Given the description of an element on the screen output the (x, y) to click on. 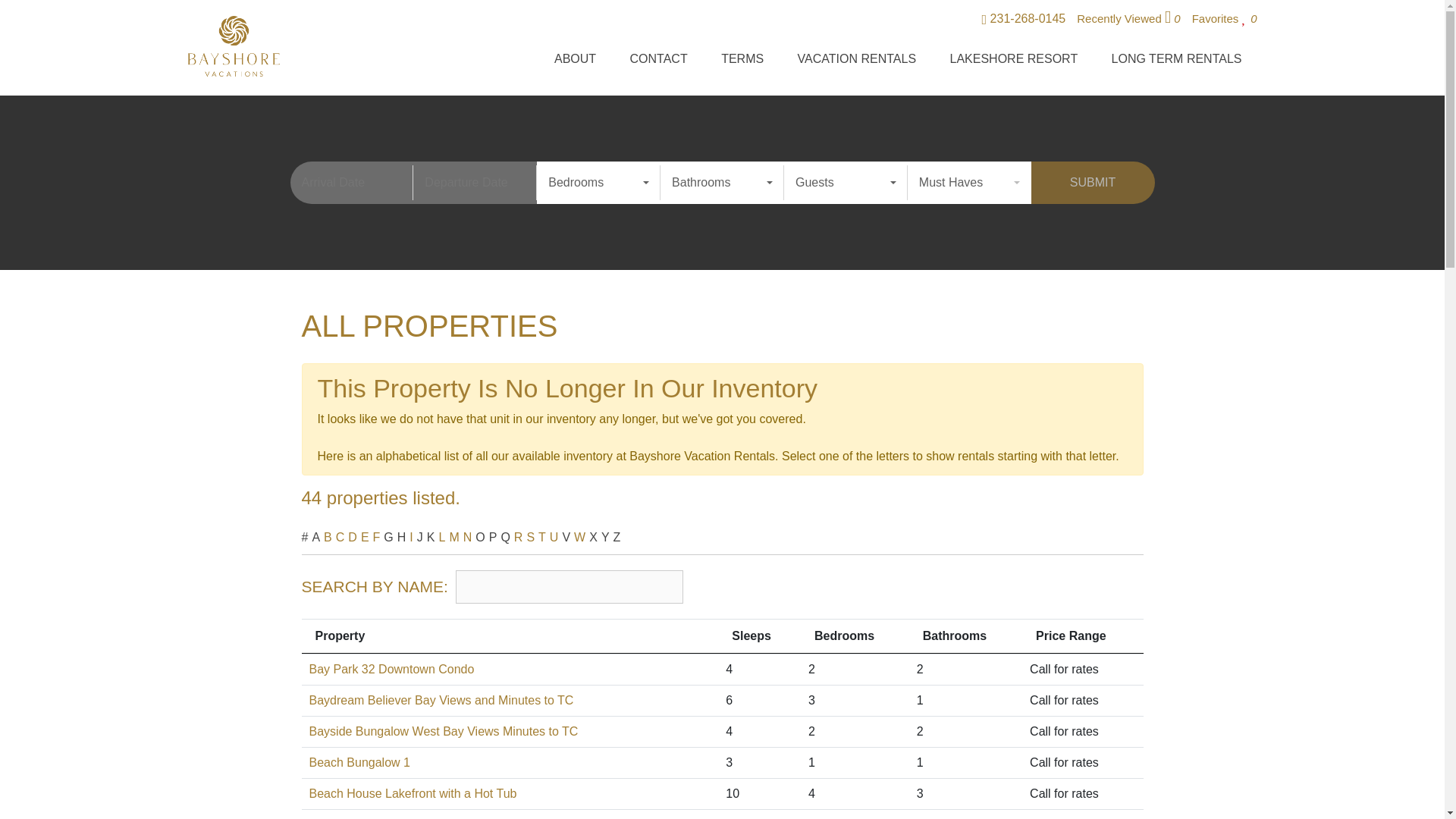
Must Haves (968, 182)
Must Haves (968, 182)
Baydream Believer Bay Views and Minutes to TC (440, 699)
Bathrooms (722, 182)
ABOUT (574, 62)
Bayshore Vacation Rentals (233, 45)
VACATION RENTALS (857, 62)
CONTACT (658, 62)
Bedrooms (599, 182)
231-268-0145 (1023, 19)
Beach Bungalow 1 (359, 762)
LONG TERM RENTALS (1176, 62)
Bathrooms (722, 182)
Bayside Bungalow West Bay Views Minutes to TC (443, 730)
LAKESHORE RESORT (1013, 62)
